Given the description of an element on the screen output the (x, y) to click on. 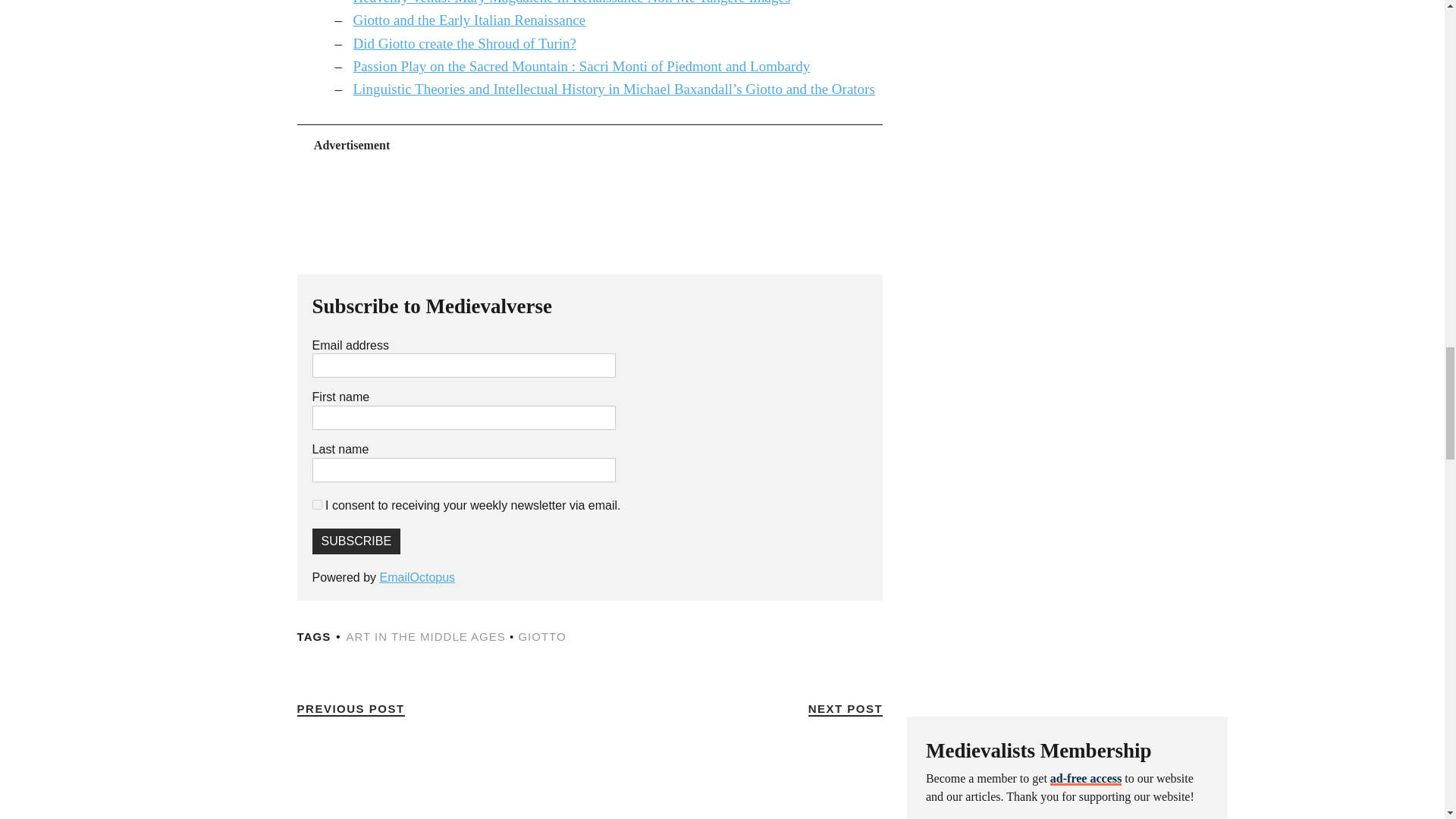
on (317, 504)
